Given the description of an element on the screen output the (x, y) to click on. 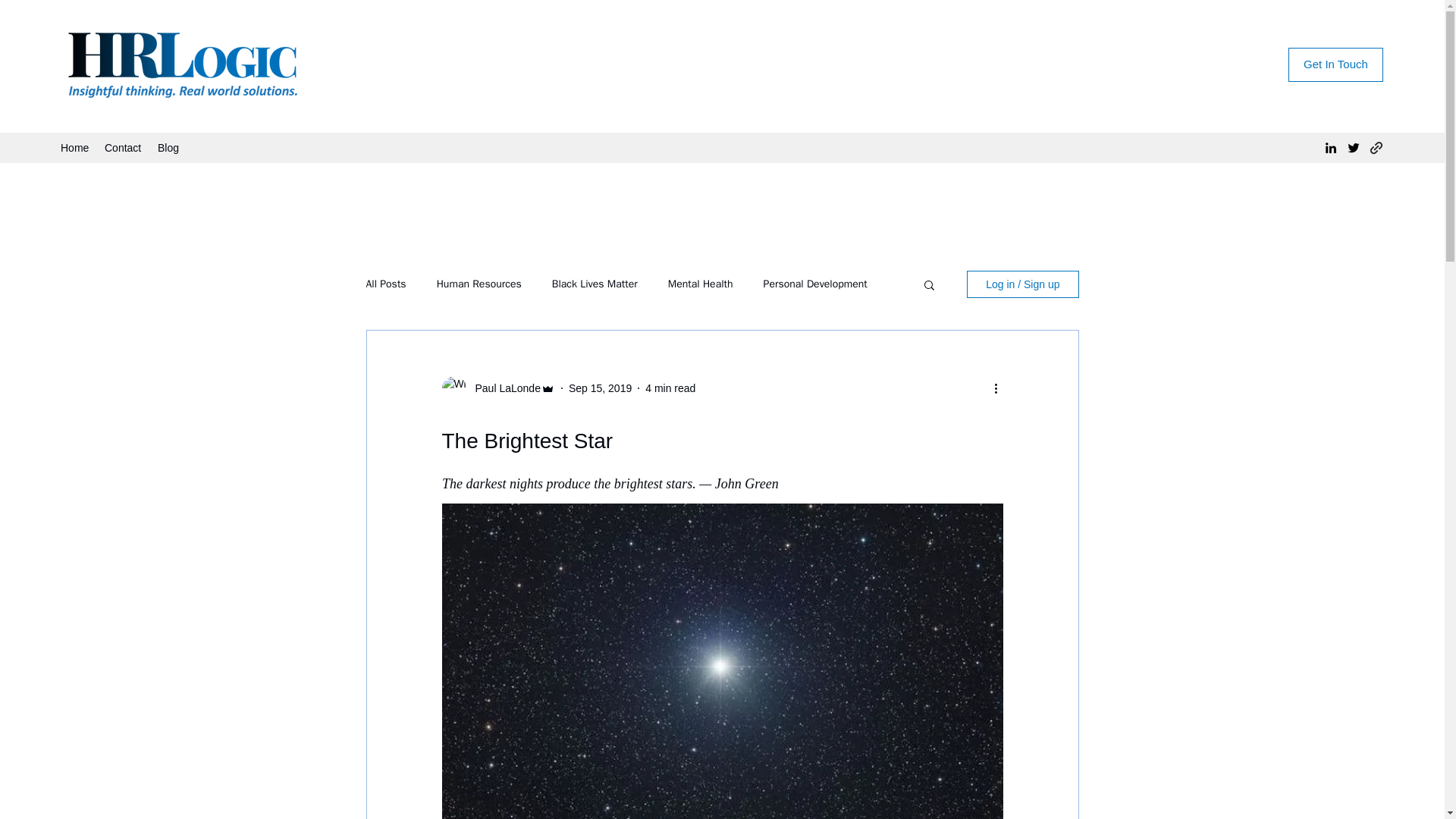
Mental Health (700, 284)
Home (74, 147)
4 min read (670, 387)
Black Lives Matter (594, 284)
Human Resources (478, 284)
Contact (123, 147)
Paul LaLonde (502, 388)
Sep 15, 2019 (600, 387)
Get In Touch (1335, 64)
Personal Development (814, 284)
